Given the description of an element on the screen output the (x, y) to click on. 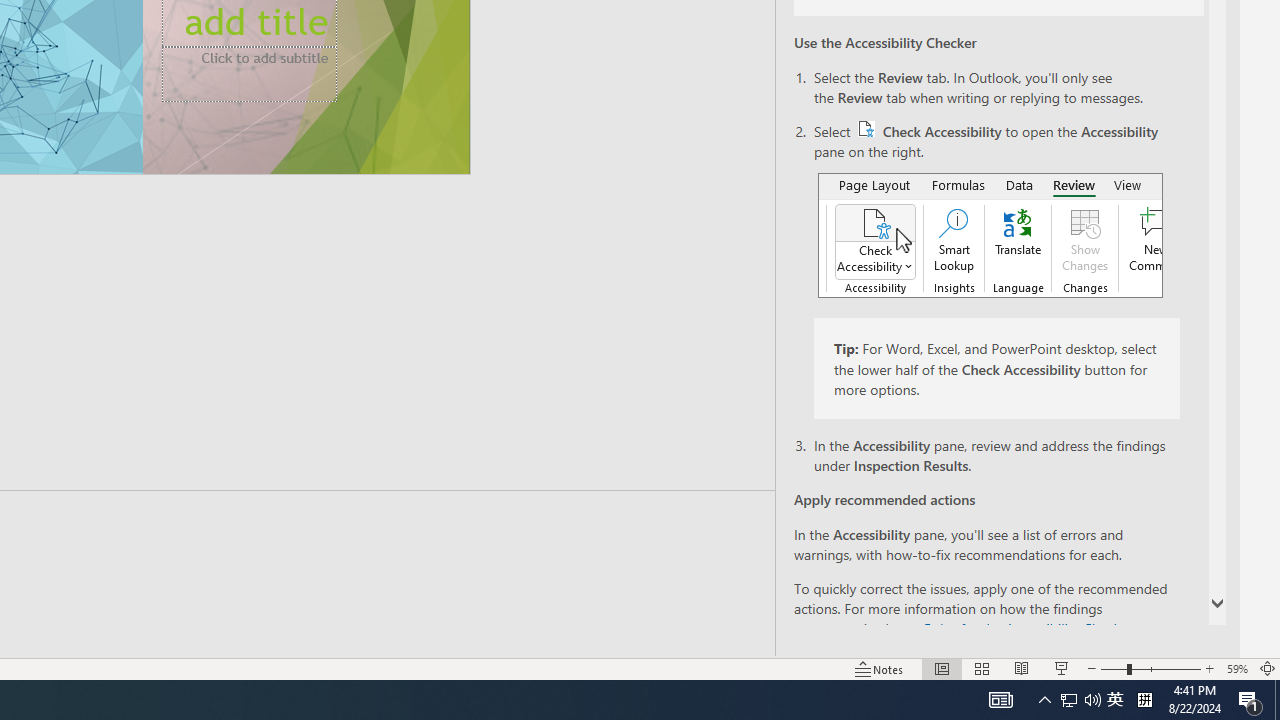
Zoom 59% (1236, 668)
Check accessibility button (866, 128)
Rules for the Accessibility Checker (1025, 628)
Subtitle TextBox (249, 74)
Accessibility checker button on ribbon (990, 235)
